Given the description of an element on the screen output the (x, y) to click on. 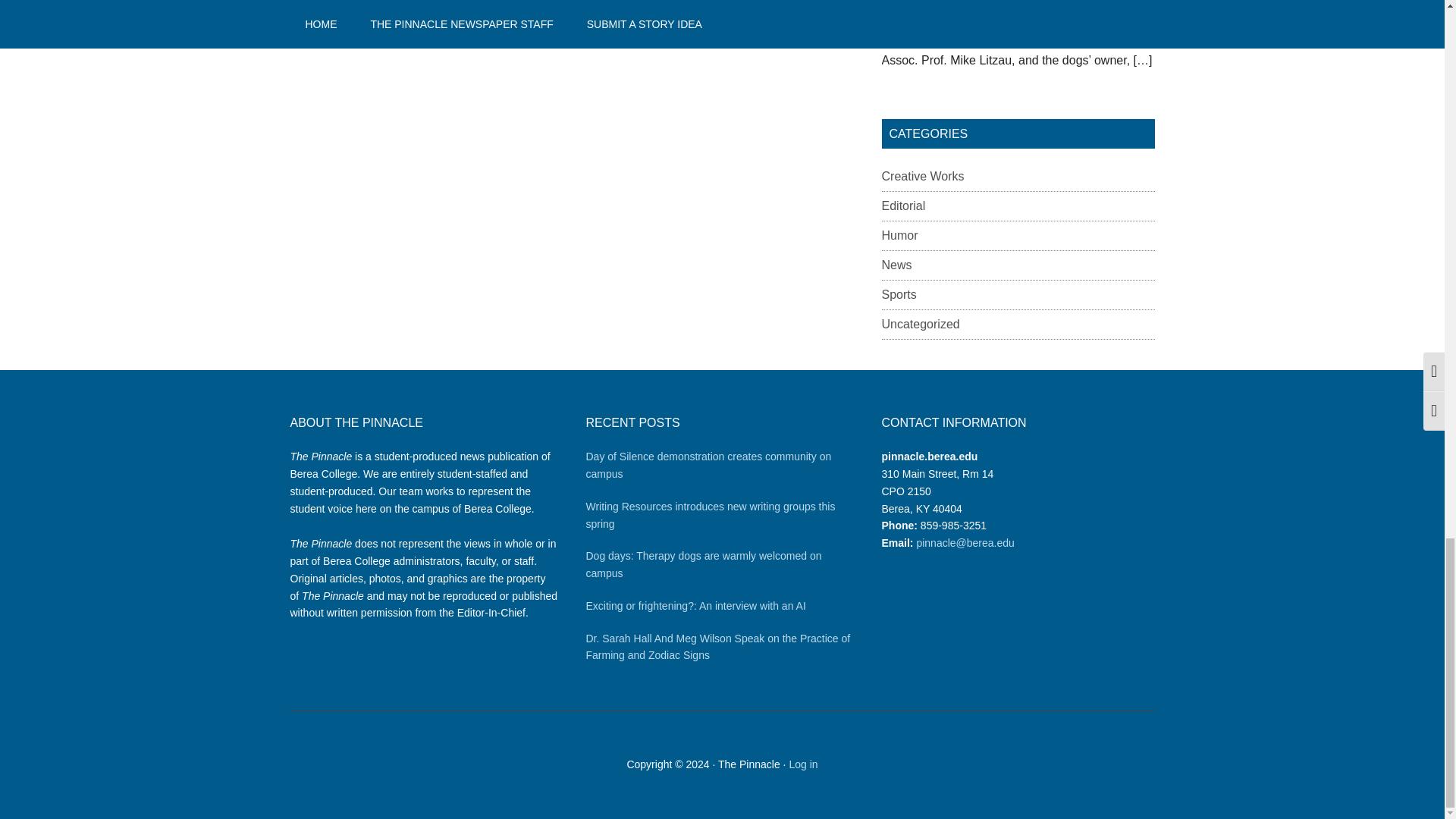
Humor (898, 235)
News (895, 264)
Creative Works (921, 175)
Editorial (902, 205)
